Given the description of an element on the screen output the (x, y) to click on. 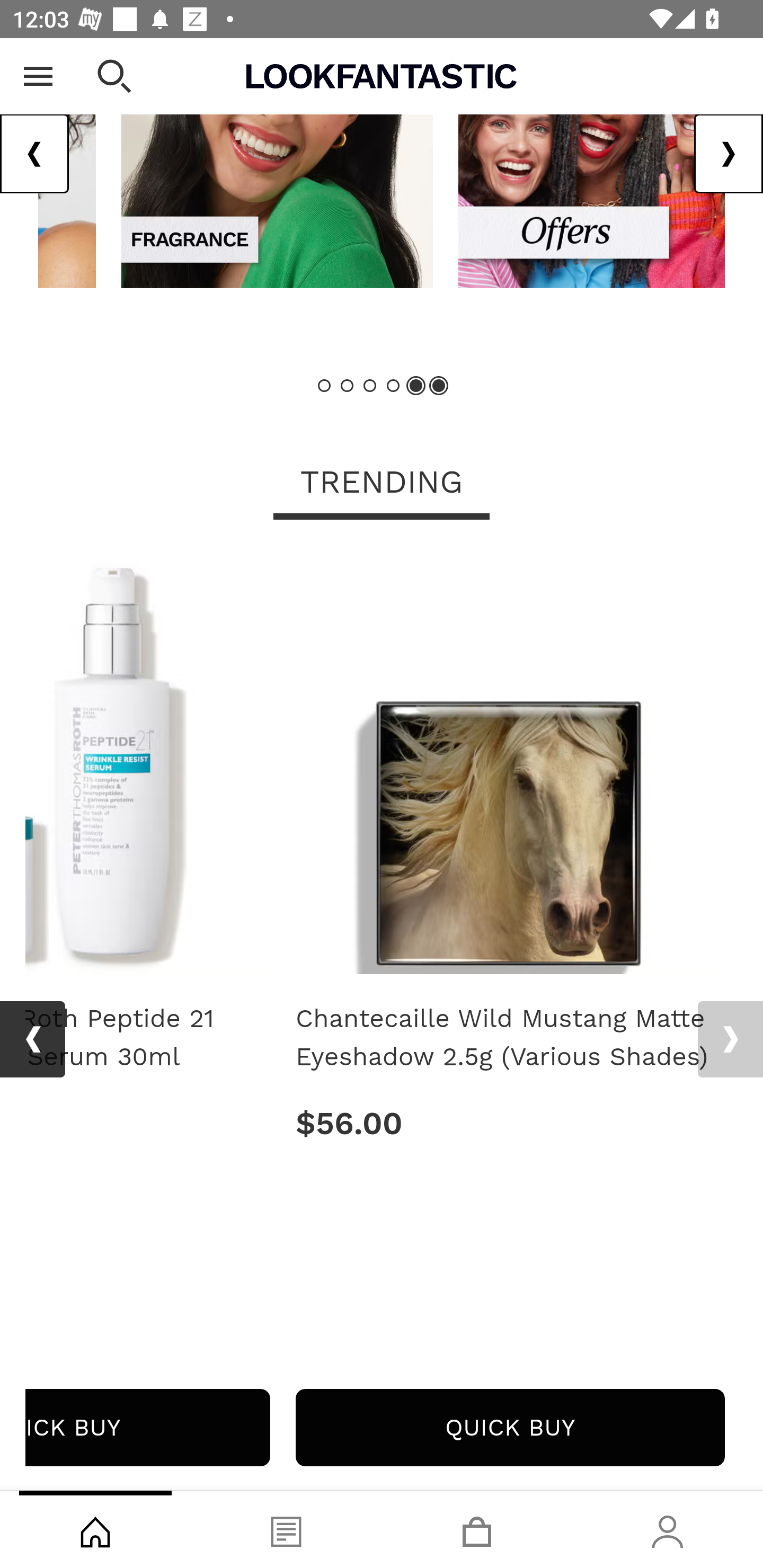
Previous (35, 155)
Next (727, 155)
Slide 1 (324, 386)
Slide 2 (347, 386)
Slide 3 (369, 386)
Slide 4 (393, 386)
Showing Slide 5 (Current Item) (415, 386)
Showing Slide 6 (Current Item) (437, 386)
TRENDING (381, 484)
Previous (32, 1039)
Next (730, 1039)
Price: $56.00 (510, 1123)
Shop, tab, 1 of 4 (95, 1529)
Blog, tab, 2 of 4 (285, 1529)
Basket, tab, 3 of 4 (476, 1529)
Account, tab, 4 of 4 (667, 1529)
